Given the description of an element on the screen output the (x, y) to click on. 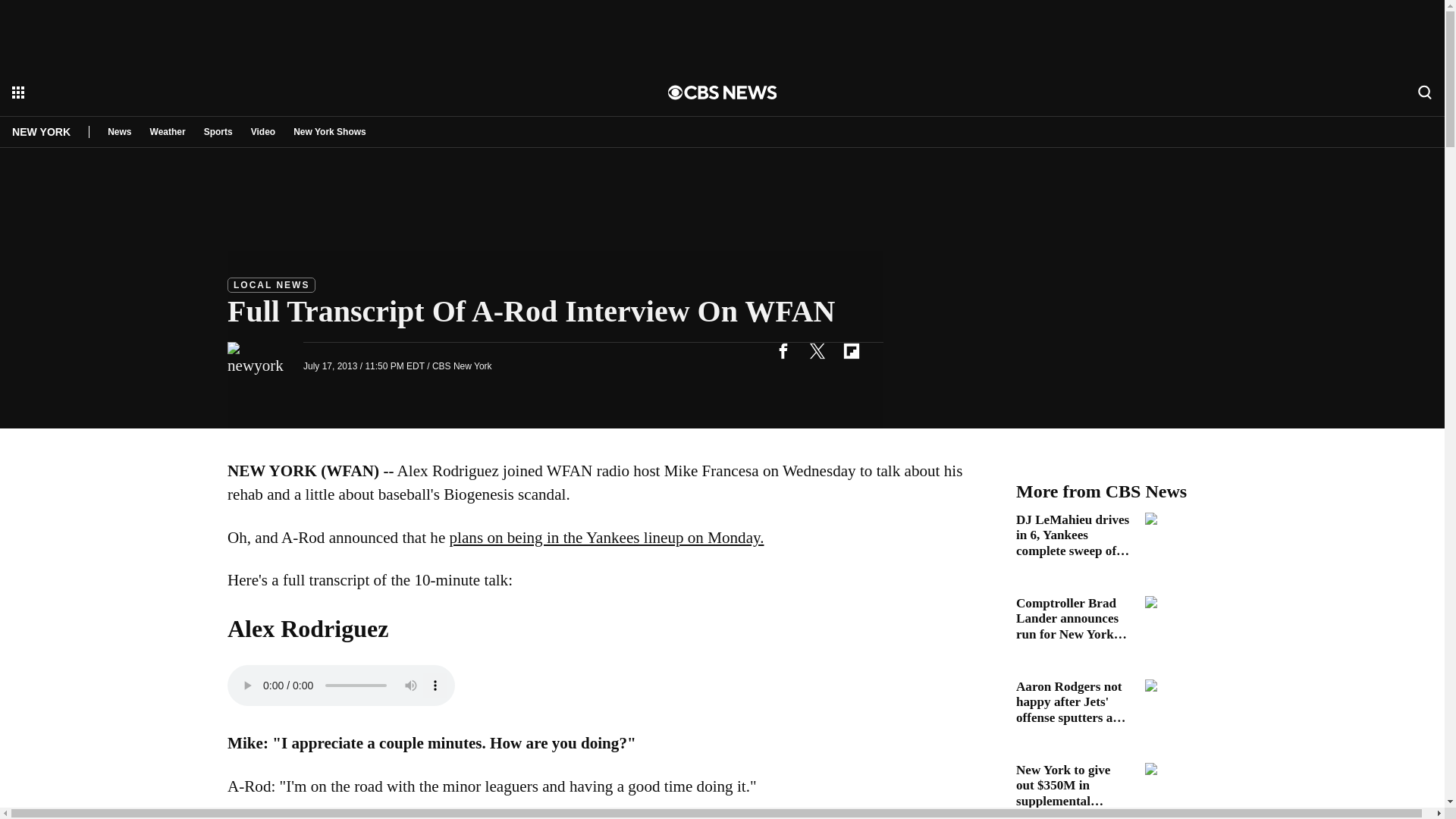
twitter (816, 350)
flipboard (850, 350)
facebook (782, 350)
